Given the description of an element on the screen output the (x, y) to click on. 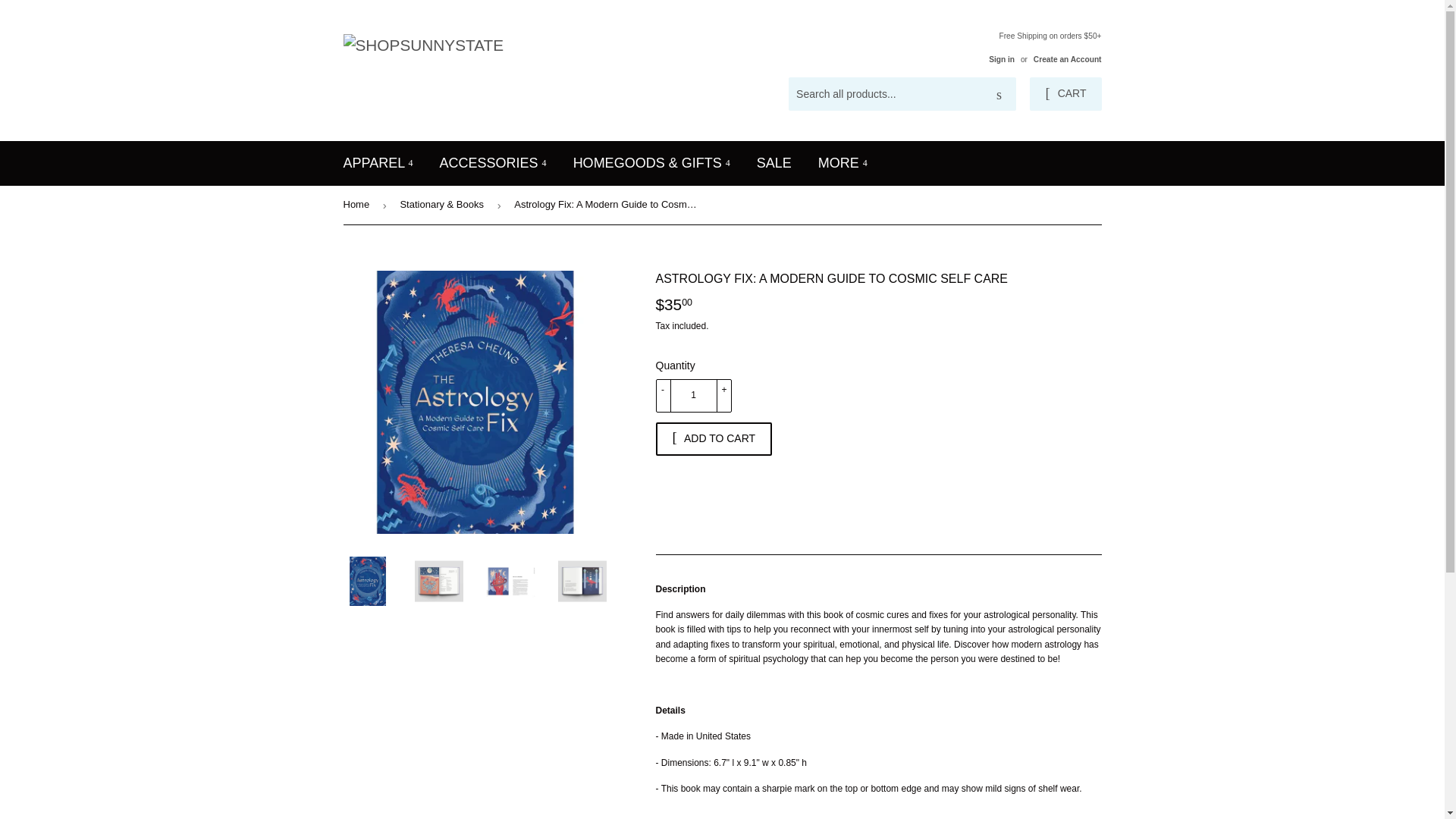
1 (692, 395)
CART (1064, 93)
Create an Account (1067, 59)
Search (998, 94)
Sign in (1001, 59)
